Given the description of an element on the screen output the (x, y) to click on. 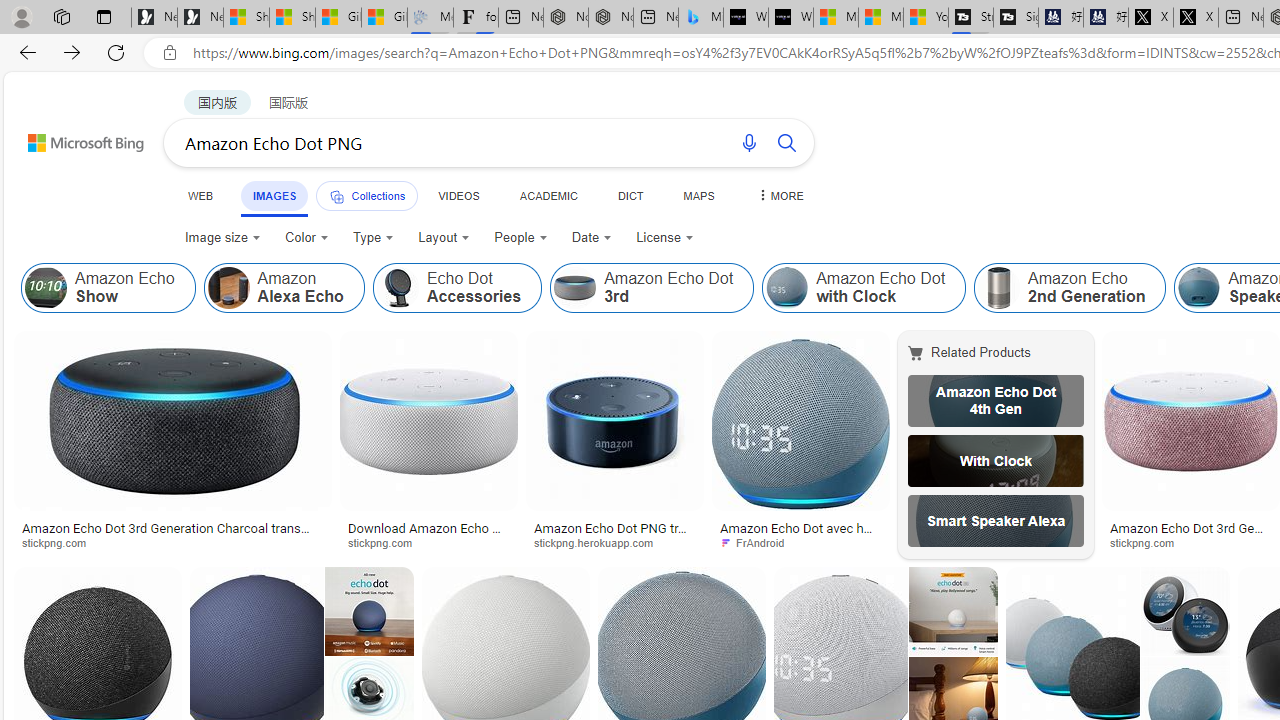
What's the best AI voice generator? - voice.ai (790, 17)
Class: item col (1070, 287)
Echo Dot Accessories (456, 287)
Amazon Echo Dot 3rd (651, 287)
Amazon Echo Show (107, 287)
Image size (222, 237)
Date (591, 237)
Amazon Echo Dot 3rd (575, 287)
WEB (201, 195)
Amazon Echo 2nd Generation (1070, 287)
Echo Dot with Clock (995, 460)
Amazon Echo Dot PNG transparente - StickPNG (615, 534)
